Given the description of an element on the screen output the (x, y) to click on. 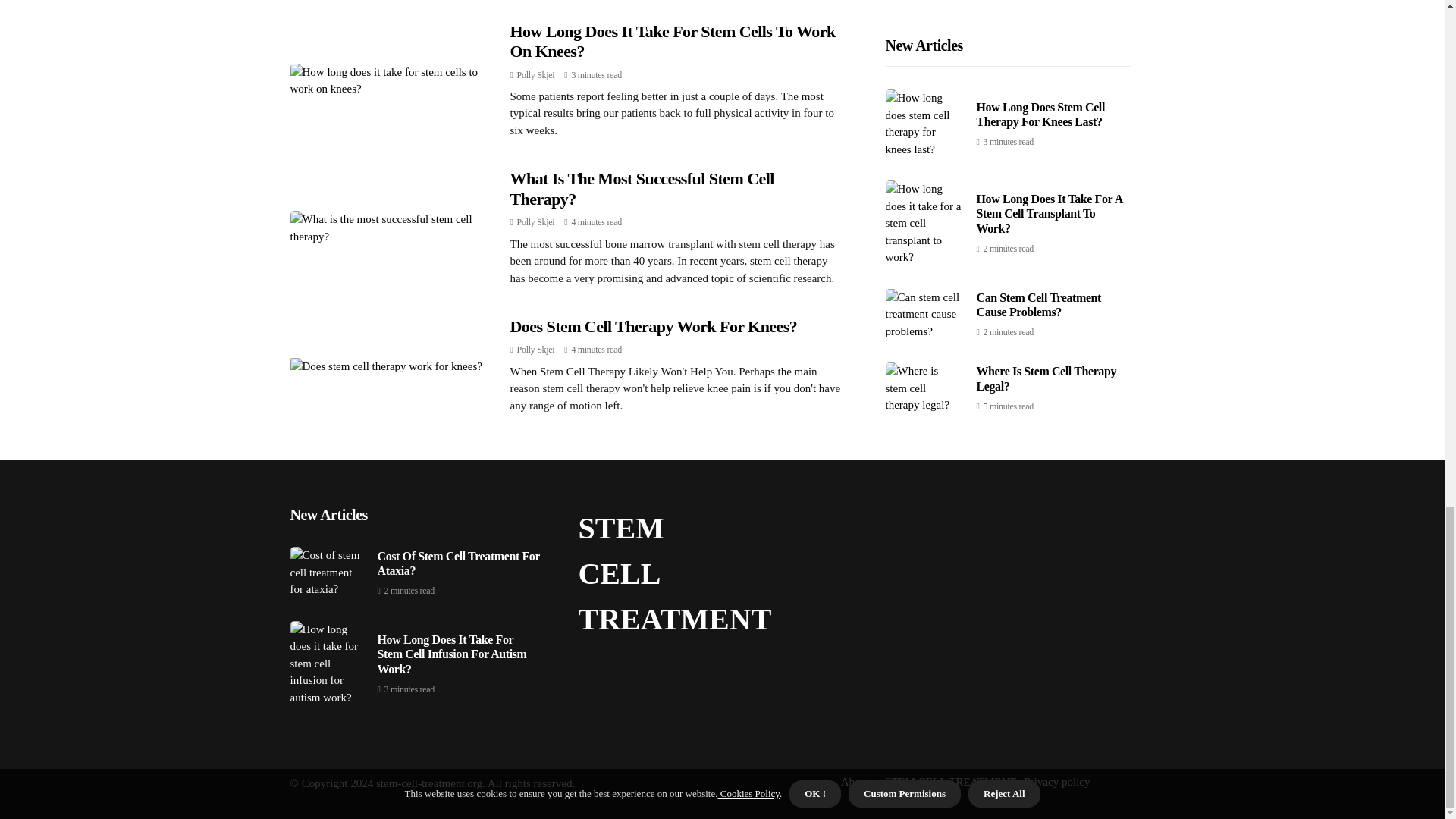
Posts by Polly Skjei (535, 222)
Polly Skjei (535, 348)
How Long Does It Take For Stem Cells To Work On Knees? (671, 41)
Posts by Polly Skjei (535, 74)
Polly Skjei (535, 222)
What Is The Most Successful Stem Cell Therapy? (641, 188)
Does Stem Cell Therapy Work For Knees? (652, 325)
Polly Skjei (535, 74)
Posts by Polly Skjei (535, 348)
